Given the description of an element on the screen output the (x, y) to click on. 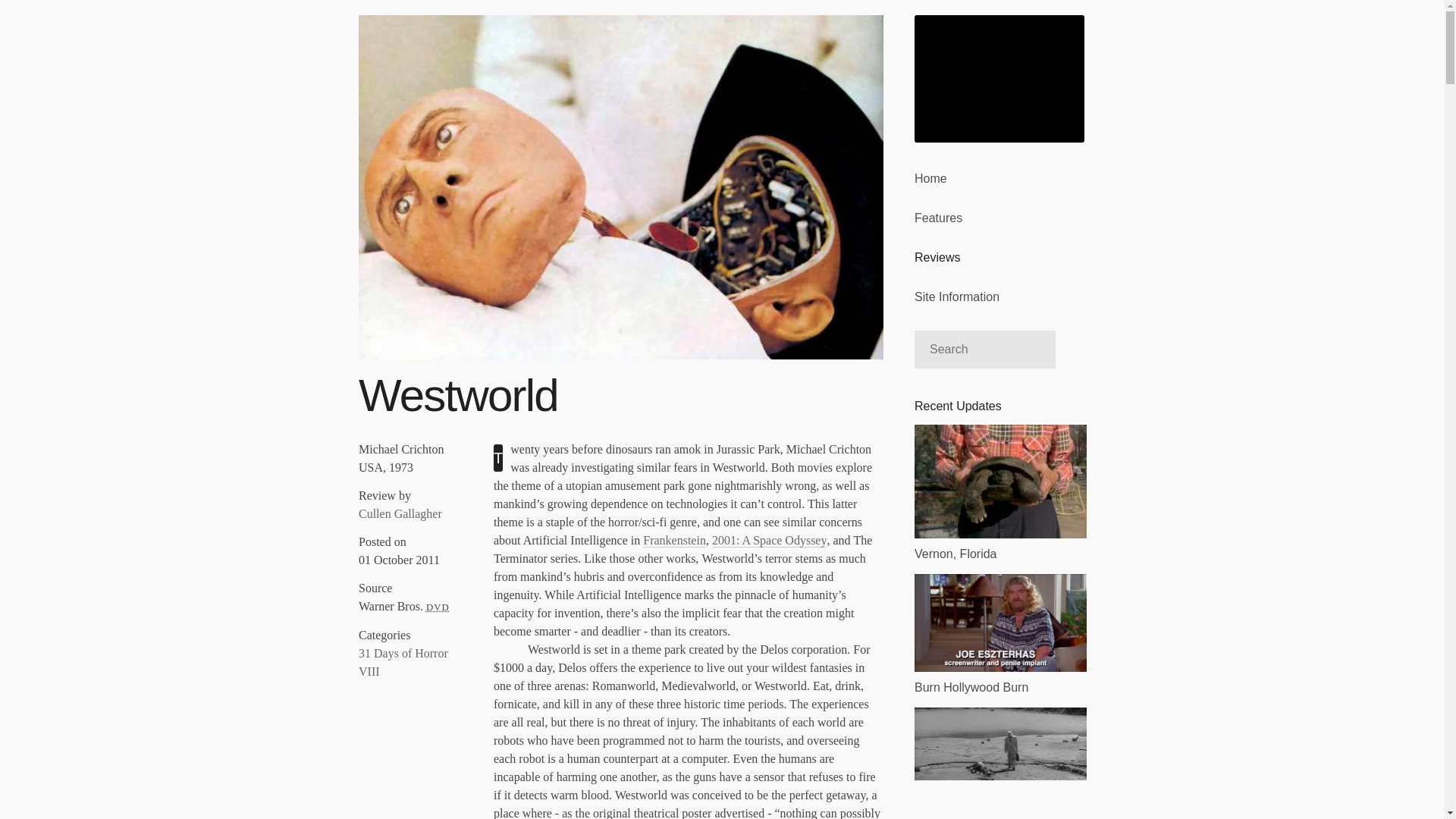
Cullen Gallagher (400, 513)
Vernon, Florida (1000, 493)
2001: A Space Odyssey (769, 540)
Burn Hollywood Burn (1000, 634)
Site Information (1000, 295)
31 Days of Horror VIII (403, 662)
Features (1000, 216)
Home (1000, 177)
Site Information (1000, 295)
Digital Versatile Disc (437, 606)
